Given the description of an element on the screen output the (x, y) to click on. 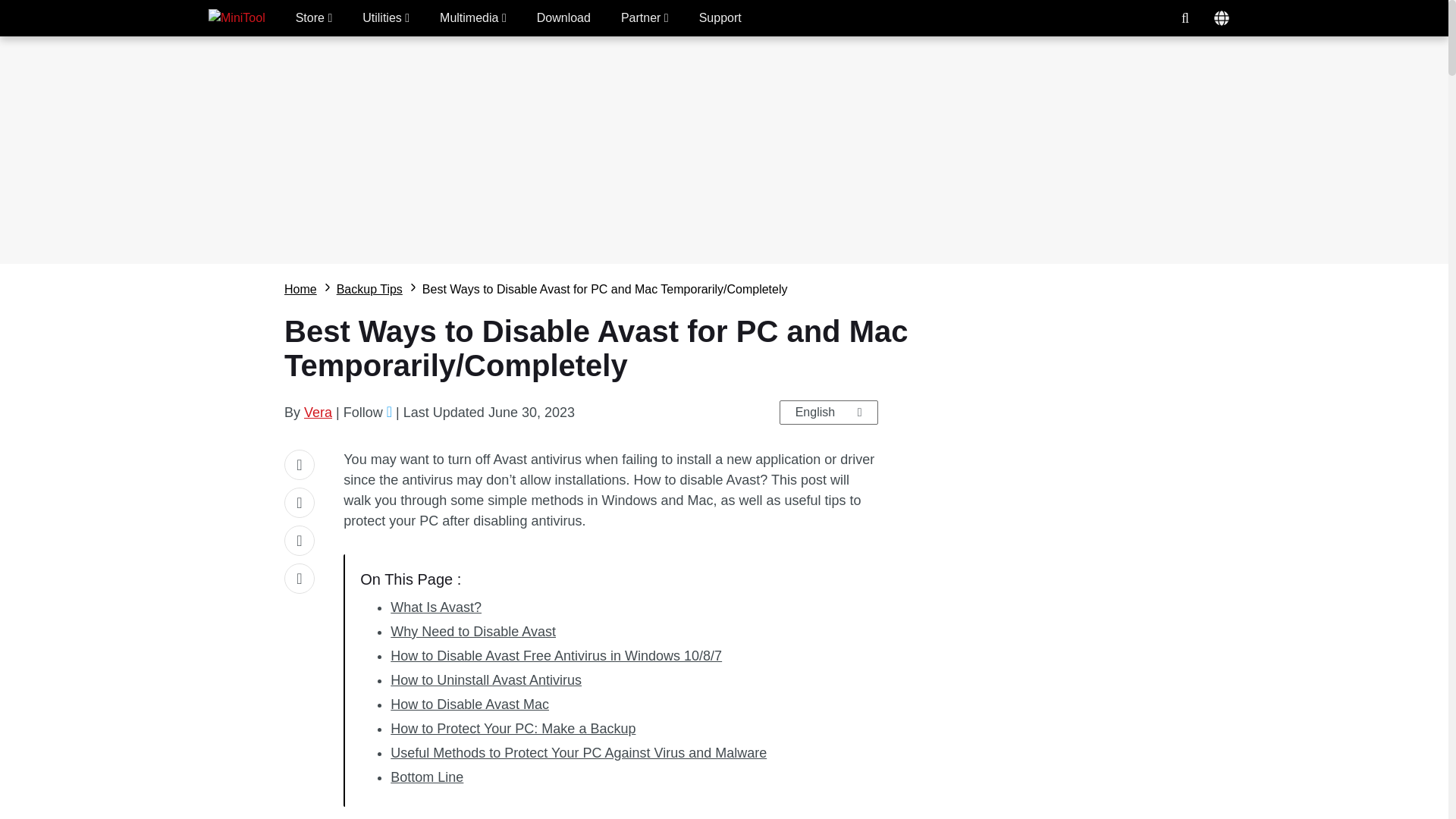
Utilities (385, 18)
Store (314, 18)
MiniTool Home (236, 17)
